Given the description of an element on the screen output the (x, y) to click on. 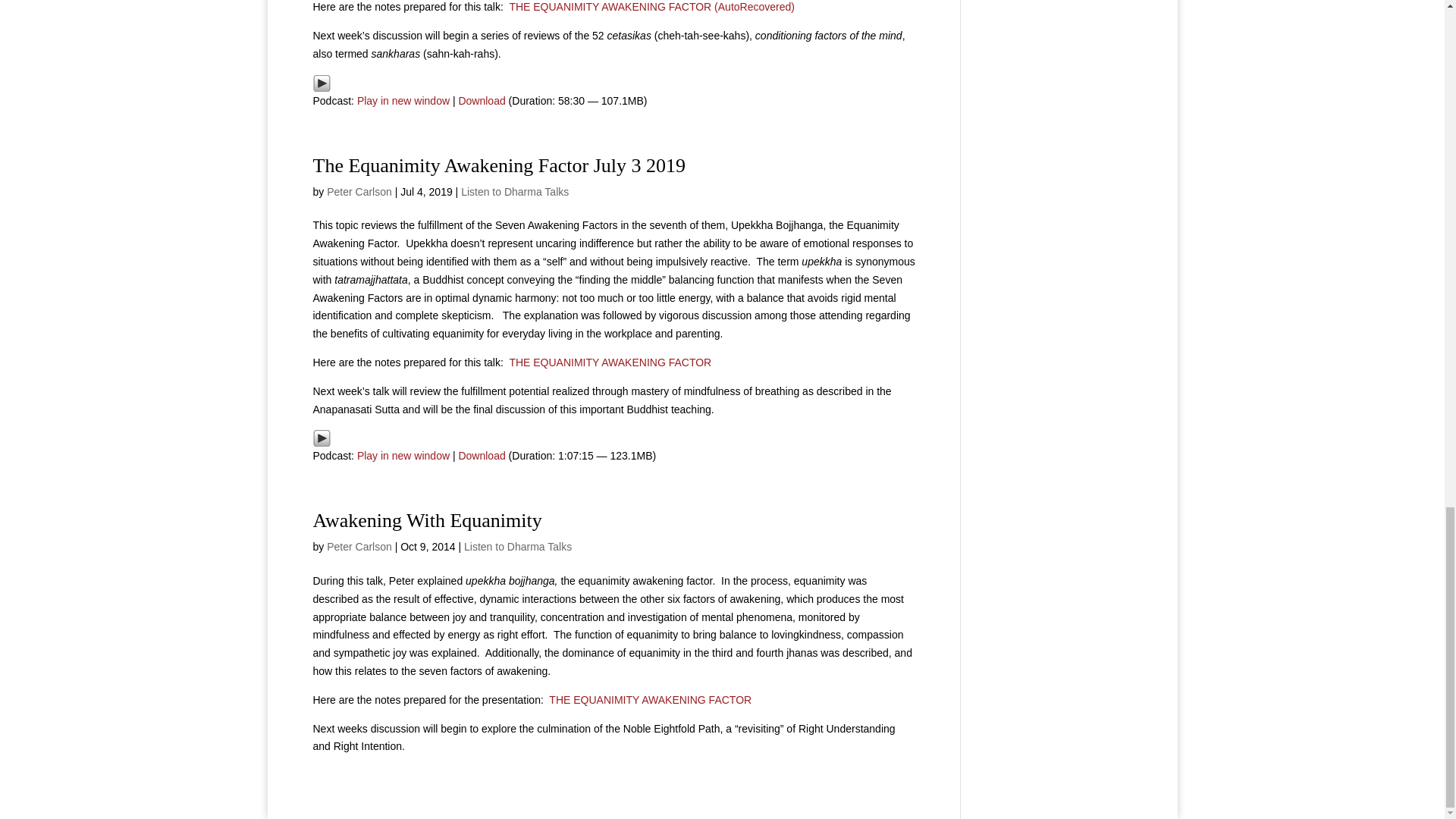
Download (481, 455)
Play (321, 83)
Play in new window (402, 101)
Play in new window (402, 101)
Posts by Peter Carlson (358, 191)
Download (481, 101)
Play (321, 438)
Play (321, 82)
Play in new window (402, 455)
Play (321, 438)
